Given the description of an element on the screen output the (x, y) to click on. 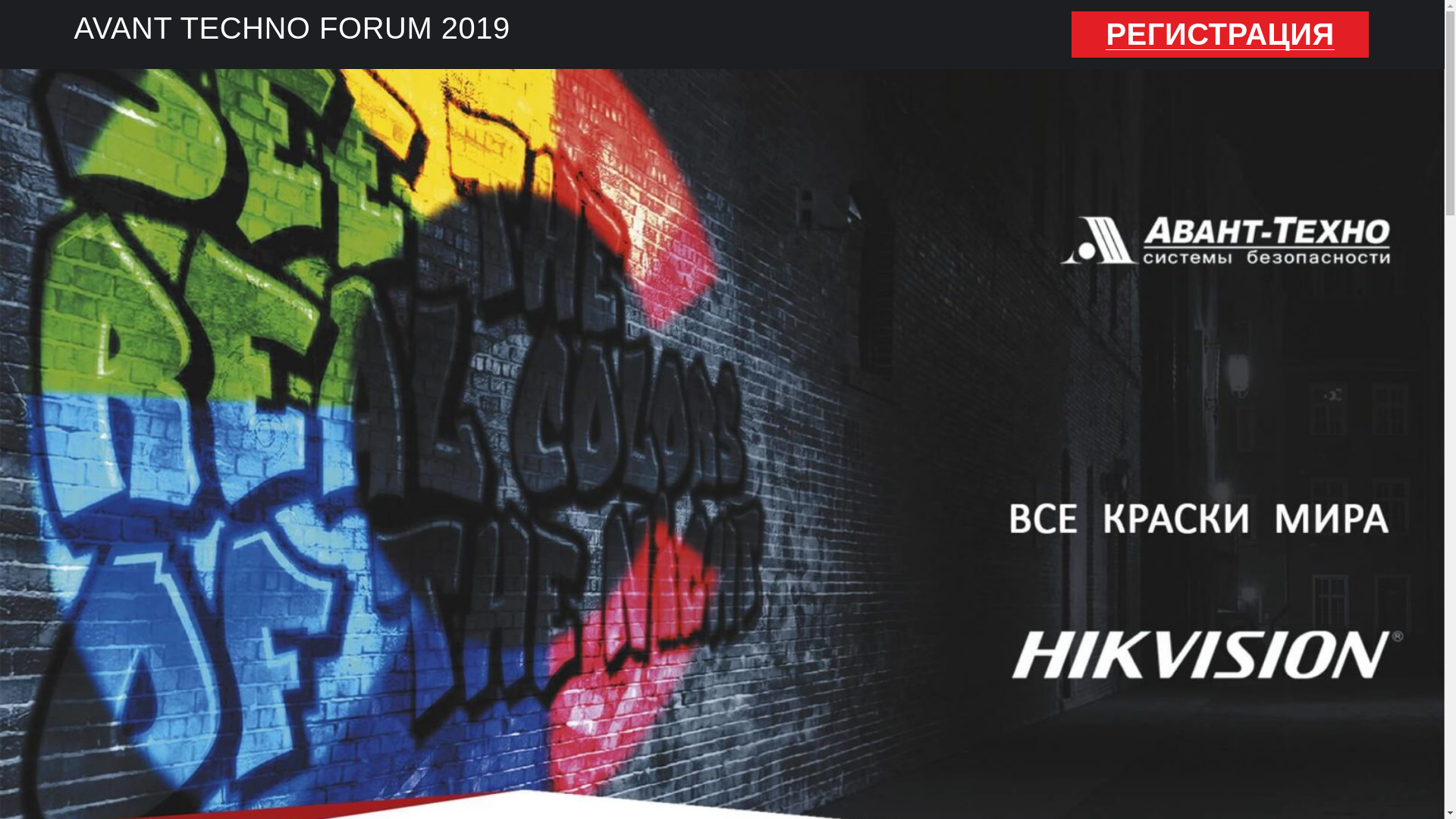
Skip to content Element type: text (0, 0)
AVANT TECHNO FORUM 2019 Element type: text (292, 27)
